Given the description of an element on the screen output the (x, y) to click on. 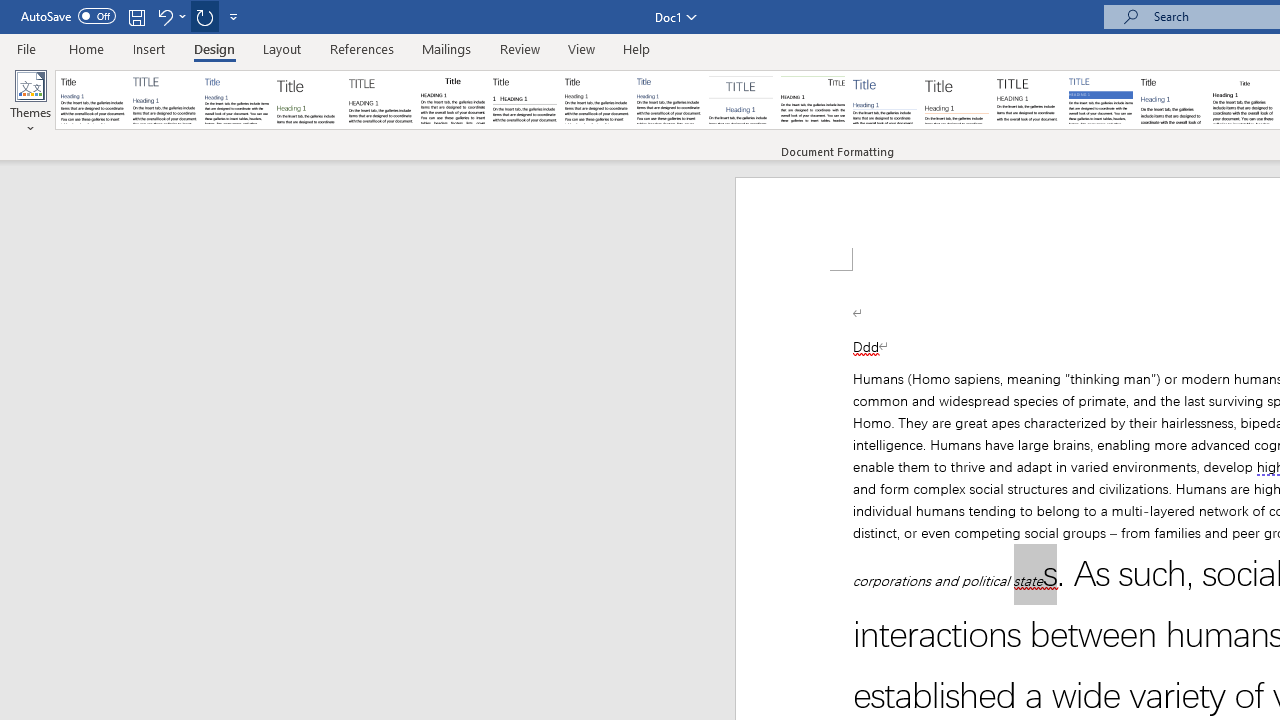
Repeat Accessibility Checker (204, 15)
Undo Apply Quick Style Set (164, 15)
Casual (669, 100)
Black & White (Capitalized) (381, 100)
Basic (Elegant) (164, 100)
Lines (Distinctive) (812, 100)
Lines (Simple) (884, 100)
Black & White (Word 2013) (596, 100)
